Given the description of an element on the screen output the (x, y) to click on. 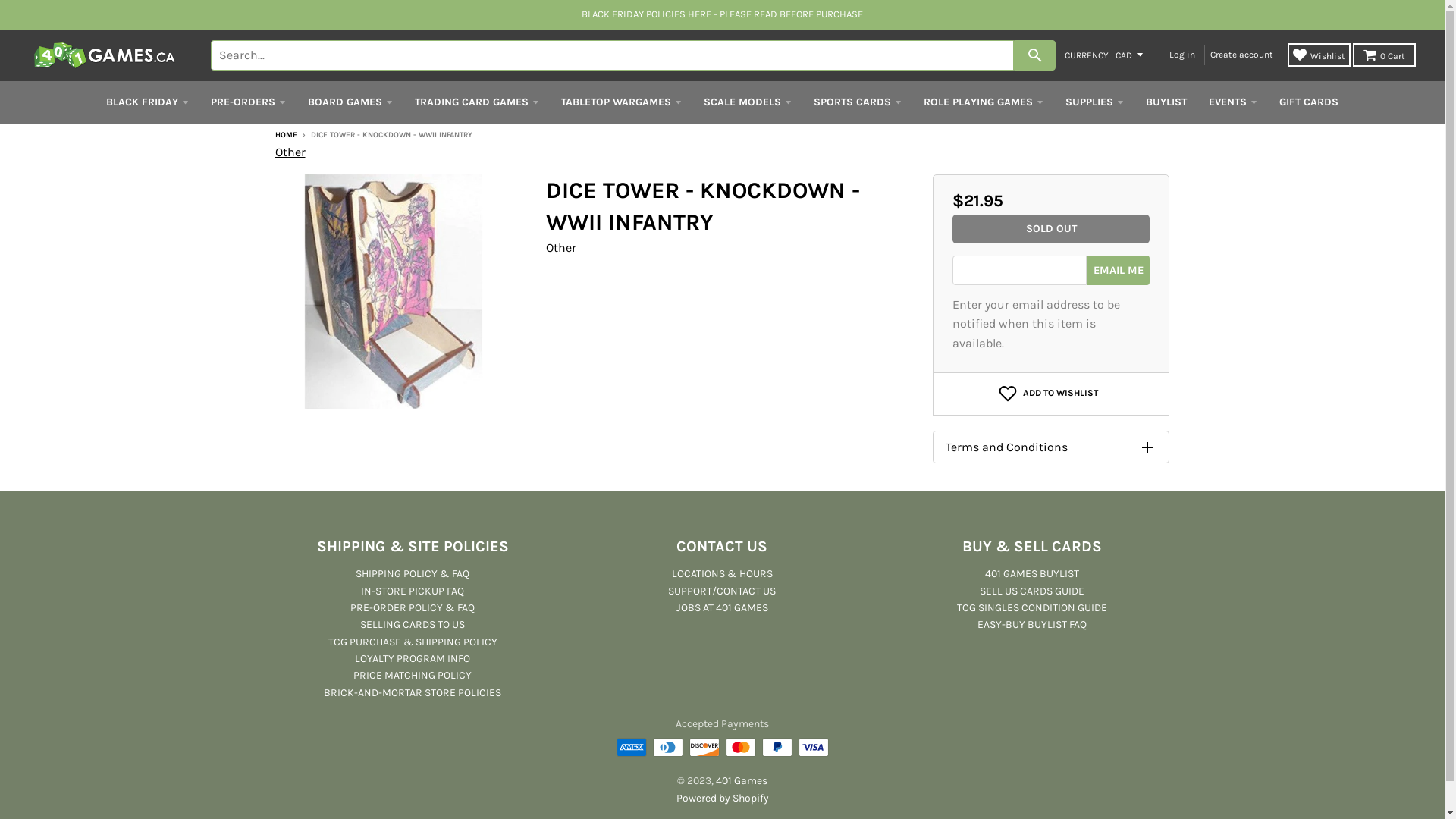
PRICE MATCHING POLICY Element type: text (412, 674)
401 GAMES BUYLIST Element type: text (1032, 573)
TRADING CARD GAMES Element type: text (476, 102)
Create account Element type: text (1243, 54)
SELLING CARDS TO US Element type: text (412, 624)
LOYALTY PROGRAM INFO Element type: text (412, 658)
SUPPORT/CONTACT US Element type: text (721, 589)
BLACK FRIDAY POLICIES HERE - PLEASE READ BEFORE PURCHASE Element type: text (722, 14)
TABLETOP WARGAMES Element type: text (621, 102)
ROLE PLAYING GAMES Element type: text (983, 102)
0 Cart Element type: text (1383, 54)
EASY-BUY BUYLIST FAQ Element type: text (1031, 624)
Wishlist Element type: text (1318, 54)
GIFT CARDS Element type: text (1308, 102)
SELL US CARDS GUIDE Element type: text (1031, 589)
TCG PURCHASE & SHIPPING POLICY Element type: text (412, 641)
BRICK-AND-MORTAR STORE POLICIES Element type: text (412, 692)
LOCATIONS & HOURS Element type: text (721, 573)
ADD TO WISHLIST Element type: text (1048, 393)
TCG SINGLES CONDITION GUIDE Element type: text (1032, 607)
BOARD GAMES Element type: text (350, 102)
BUYLIST Element type: text (1165, 102)
SUPPLIES Element type: text (1094, 102)
Powered by Shopify Element type: text (722, 797)
IN-STORE PICKUP FAQ Element type: text (412, 589)
SCALE MODELS Element type: text (747, 102)
PRE-ORDER POLICY & FAQ Element type: text (412, 607)
JOBS AT 401 GAMES Element type: text (722, 607)
SPORTS CARDS Element type: text (857, 102)
EVENTS Element type: text (1232, 102)
EMAIL ME Element type: text (1117, 269)
SOLD OUT Element type: text (1050, 228)
SHIPPING POLICY & FAQ Element type: text (412, 573)
PRE-ORDERS Element type: text (247, 102)
Other Element type: text (289, 151)
Other Element type: text (561, 247)
HOME Element type: text (285, 134)
401 Games Element type: text (741, 780)
BLACK FRIDAY Element type: text (147, 102)
Log in Element type: text (1184, 54)
